Given the description of an element on the screen output the (x, y) to click on. 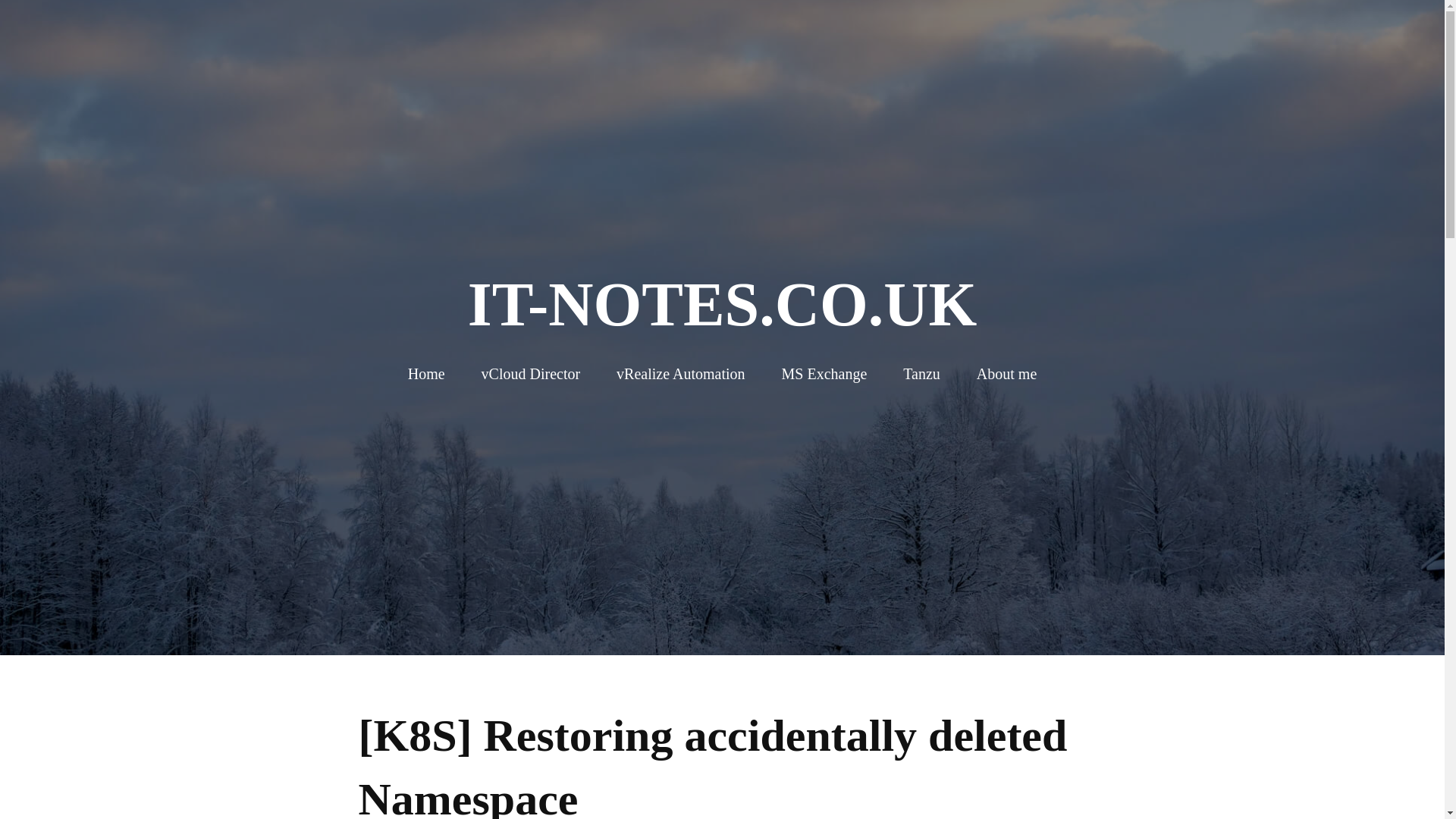
IT-NOTES.CO.UK (721, 304)
MS Exchange (824, 374)
About me (1006, 374)
Tanzu (921, 374)
Home (426, 374)
vRealize Automation (679, 374)
vCloud Director (530, 374)
